Given the description of an element on the screen output the (x, y) to click on. 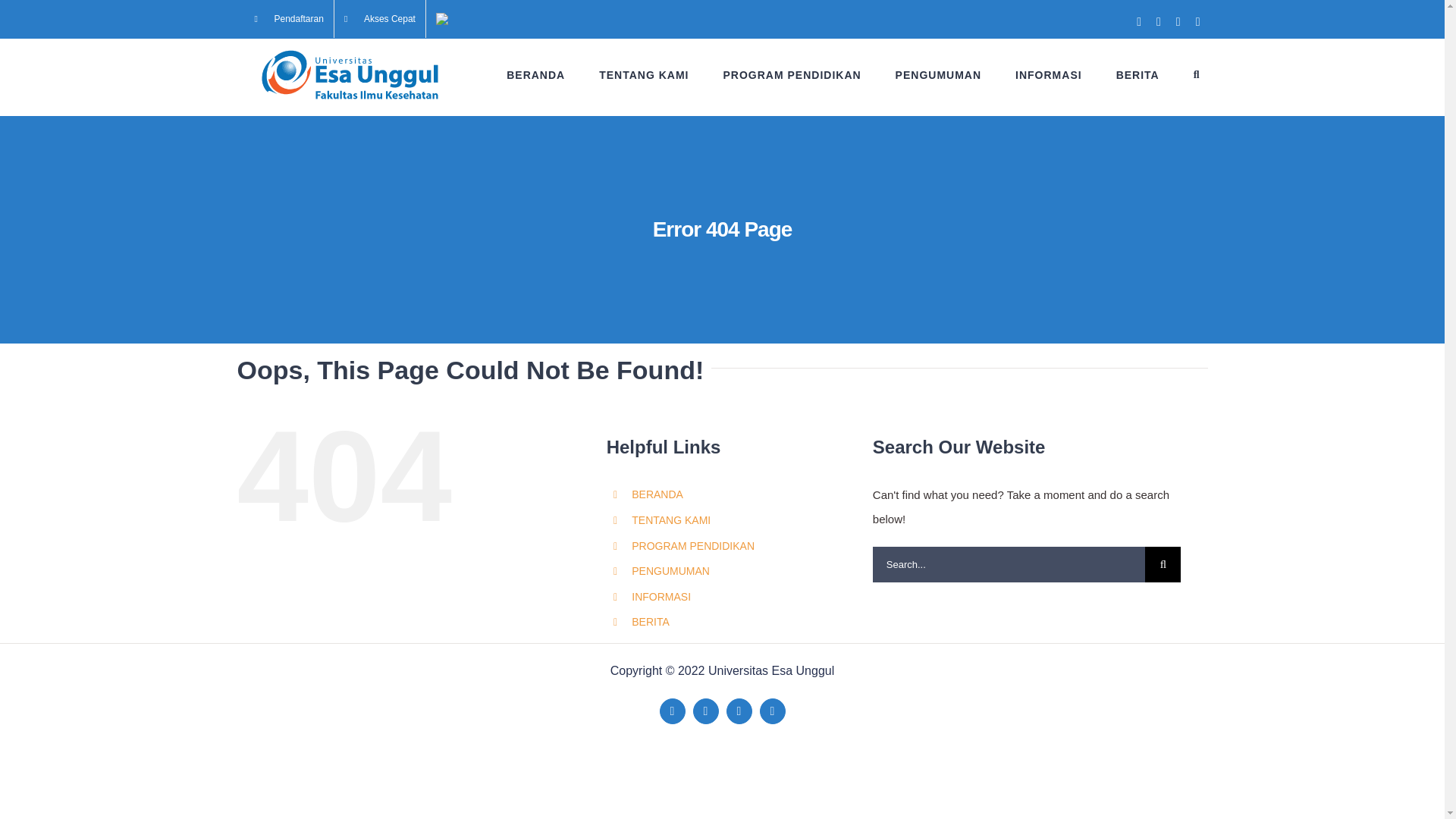
Facebook (672, 710)
TENTANG KAMI (643, 74)
PENGUMUMAN (938, 74)
Instagram (773, 710)
YouTube (739, 710)
Akses Cepat (379, 18)
PROGRAM PENDIDIKAN (791, 74)
Pendaftaran (288, 18)
Twitter (706, 710)
